Given the description of an element on the screen output the (x, y) to click on. 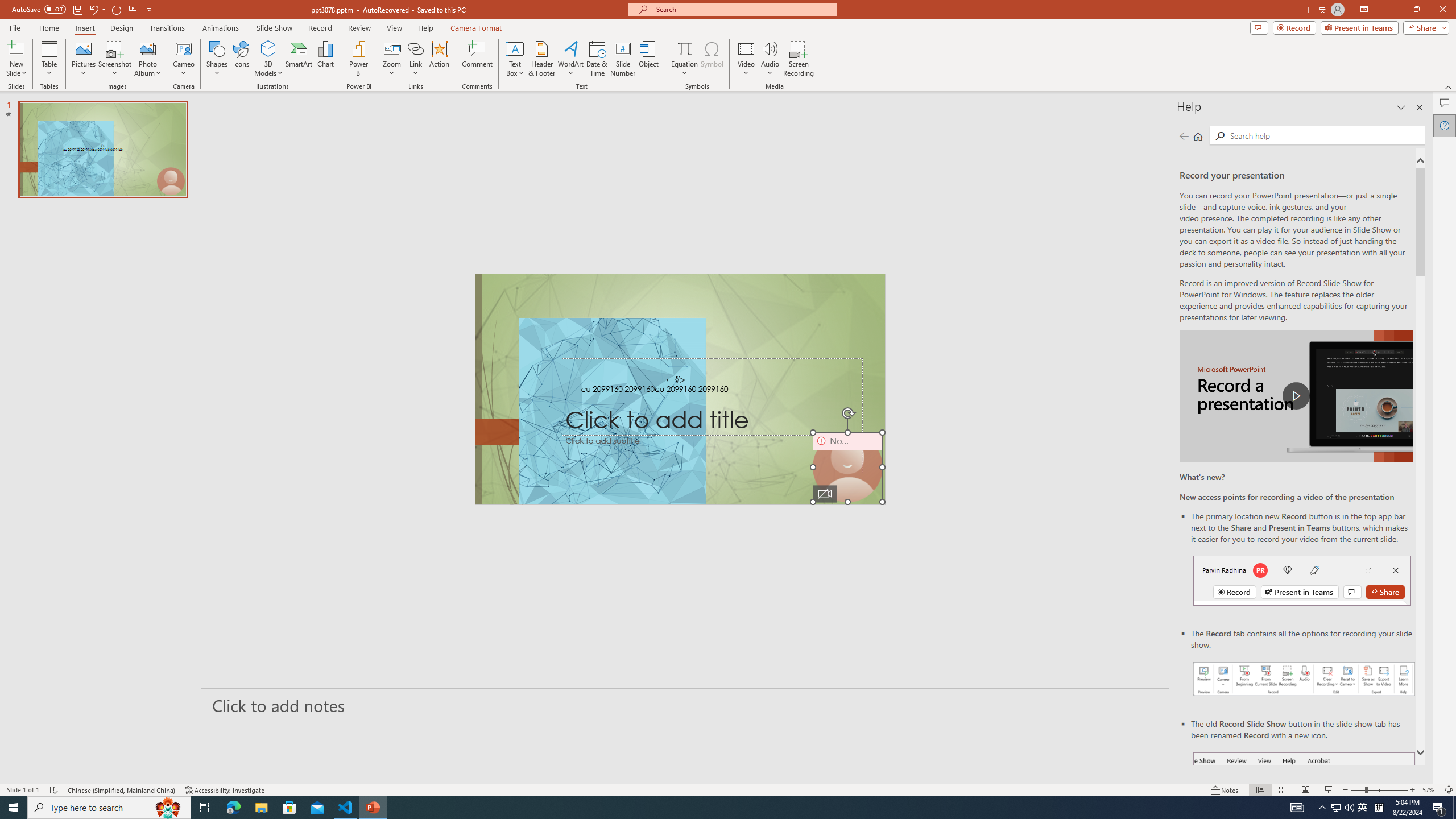
Action (439, 58)
Previous page (1183, 136)
TextBox 7 (675, 380)
Date & Time... (596, 58)
Draw Horizontal Text Box (515, 48)
